Given the description of an element on the screen output the (x, y) to click on. 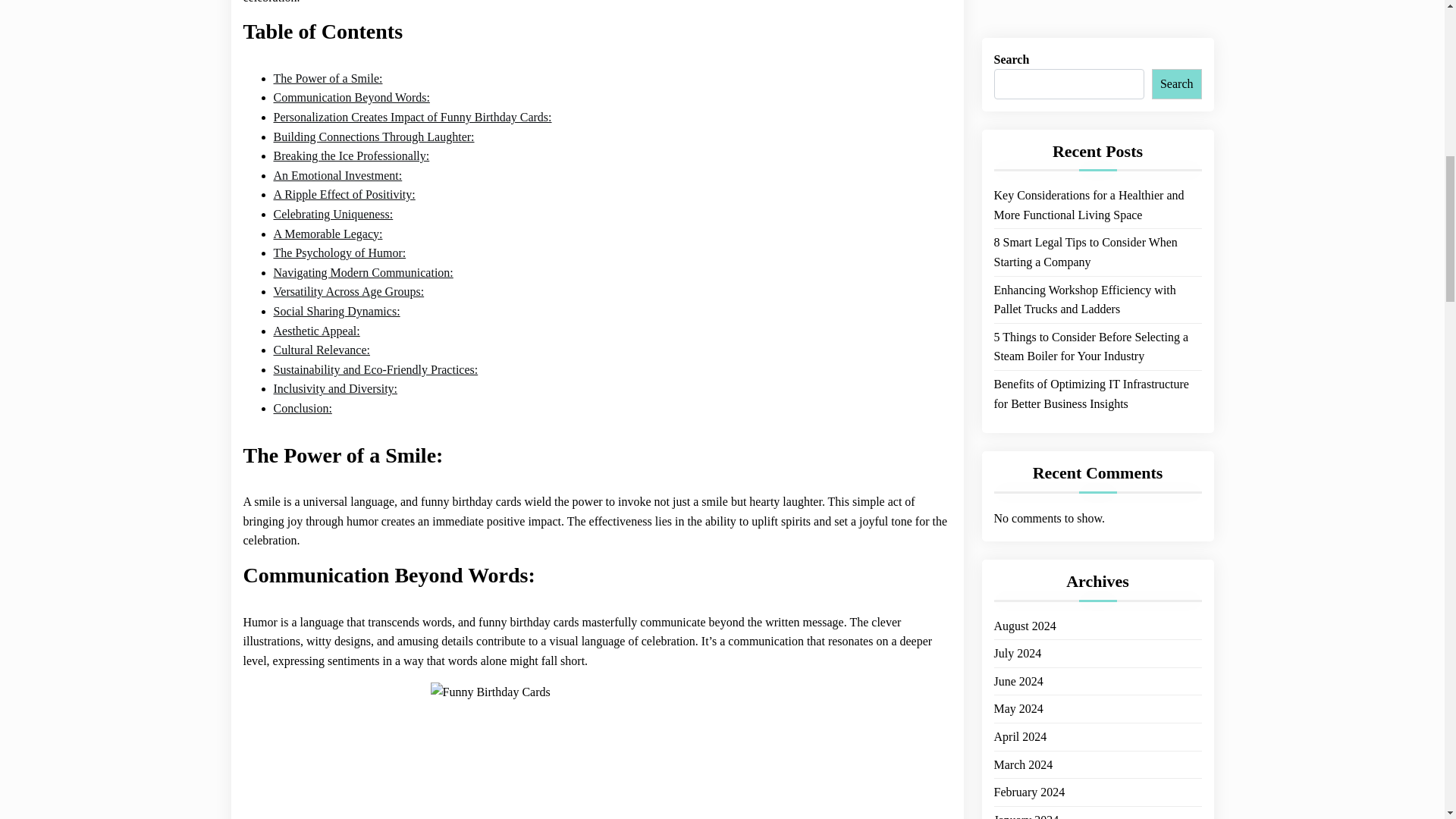
Building Connections Through Laughter: (373, 137)
Communication Beyond Words: (351, 97)
Navigating Modern Communication: (362, 272)
Aesthetic Appeal: (316, 331)
Breaking the Ice Professionally: (351, 156)
The Power of a Smile: (327, 78)
Cultural Relevance: (321, 350)
Social Sharing Dynamics: (335, 311)
A Memorable Legacy: (327, 234)
Conclusion: (302, 408)
